Given the description of an element on the screen output the (x, y) to click on. 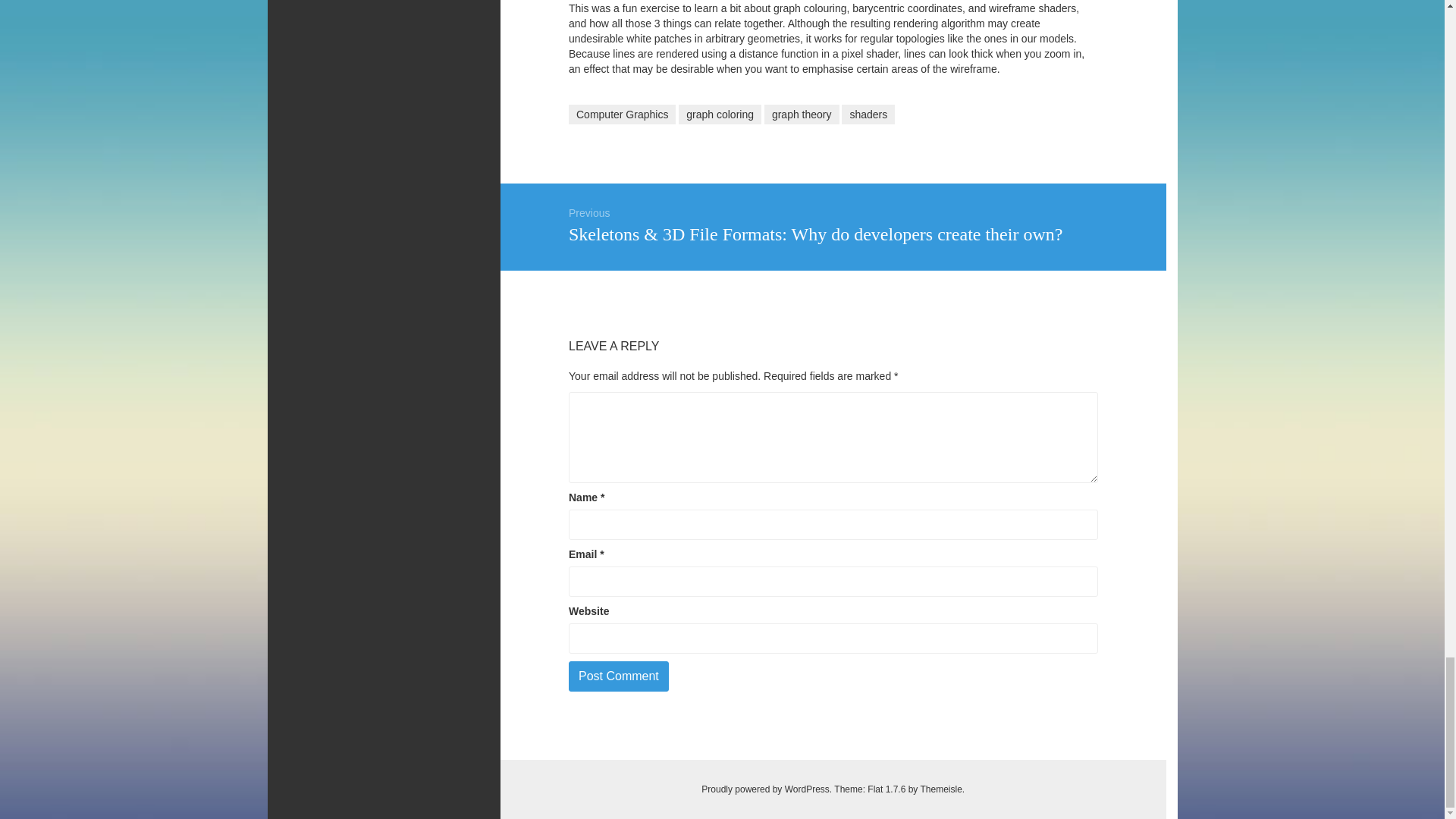
Semantic Personal Publishing Platform (765, 788)
Post Comment (618, 675)
Flat WordPress Theme (940, 788)
